Given the description of an element on the screen output the (x, y) to click on. 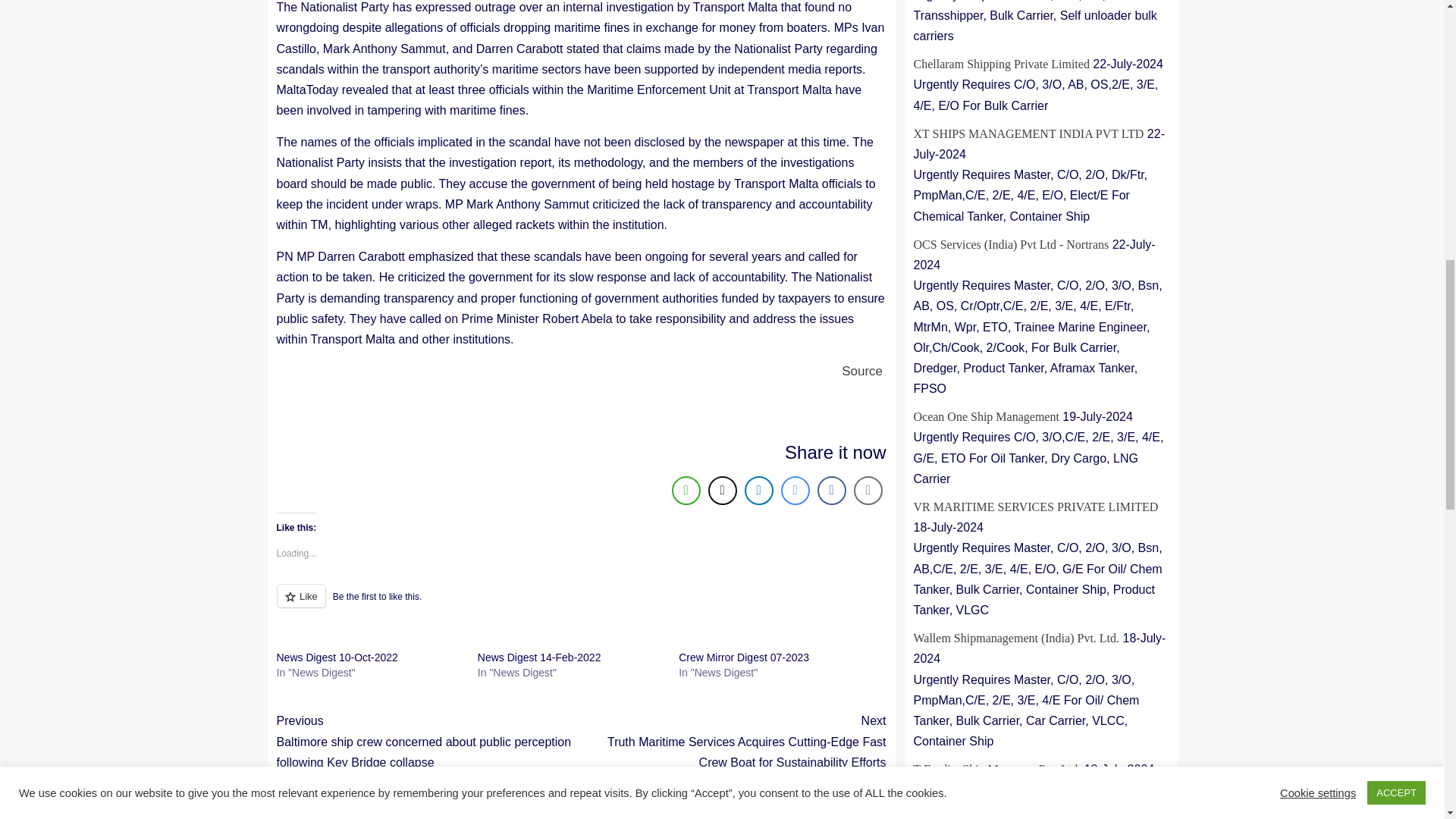
News Digest 10-Oct-2022 (336, 657)
Crew Mirror Digest 07-2023 (743, 657)
Source (861, 370)
News Digest 14-Feb-2022 (539, 657)
